Given the description of an element on the screen output the (x, y) to click on. 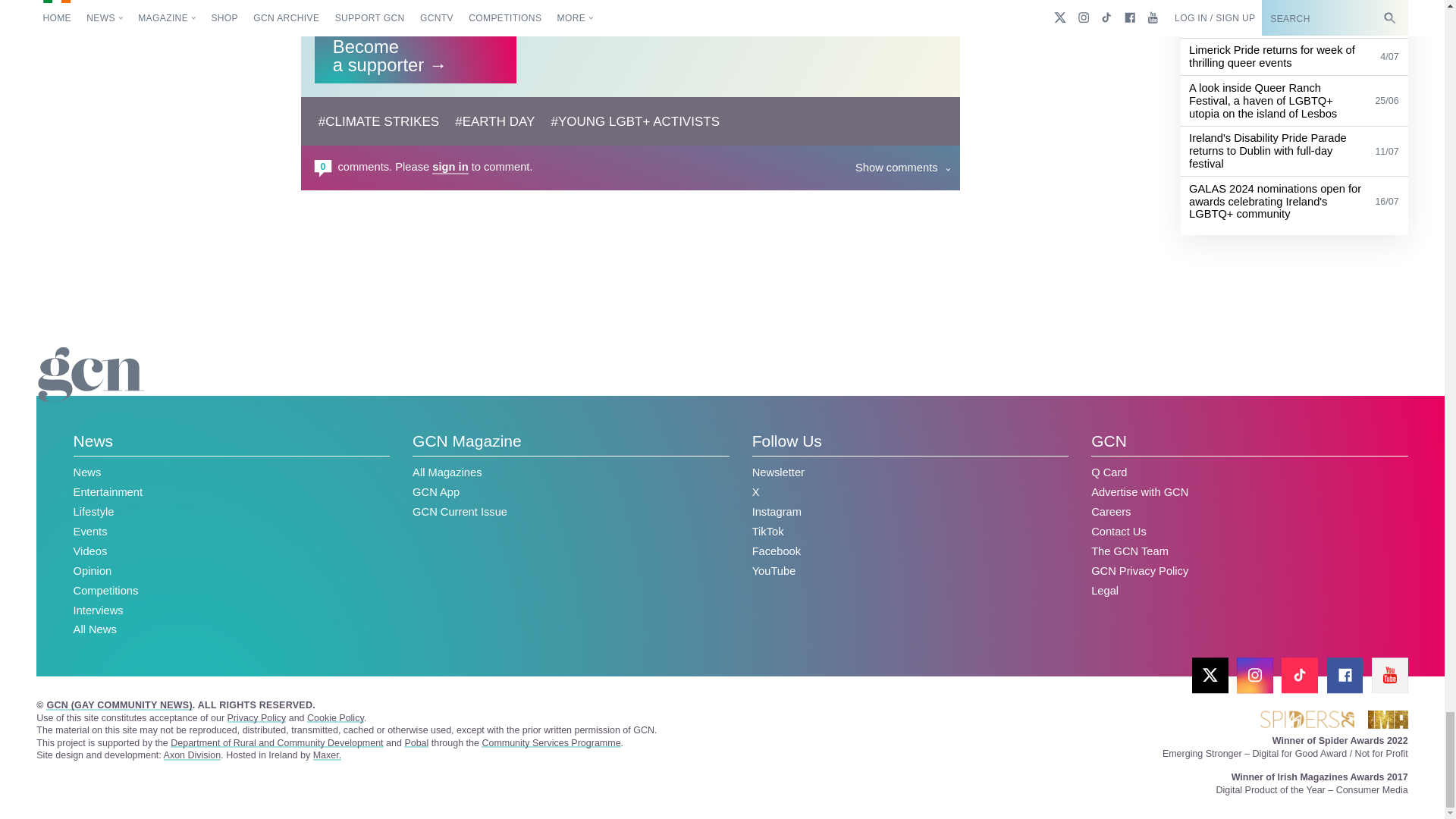
0 (322, 167)
